Given the description of an element on the screen output the (x, y) to click on. 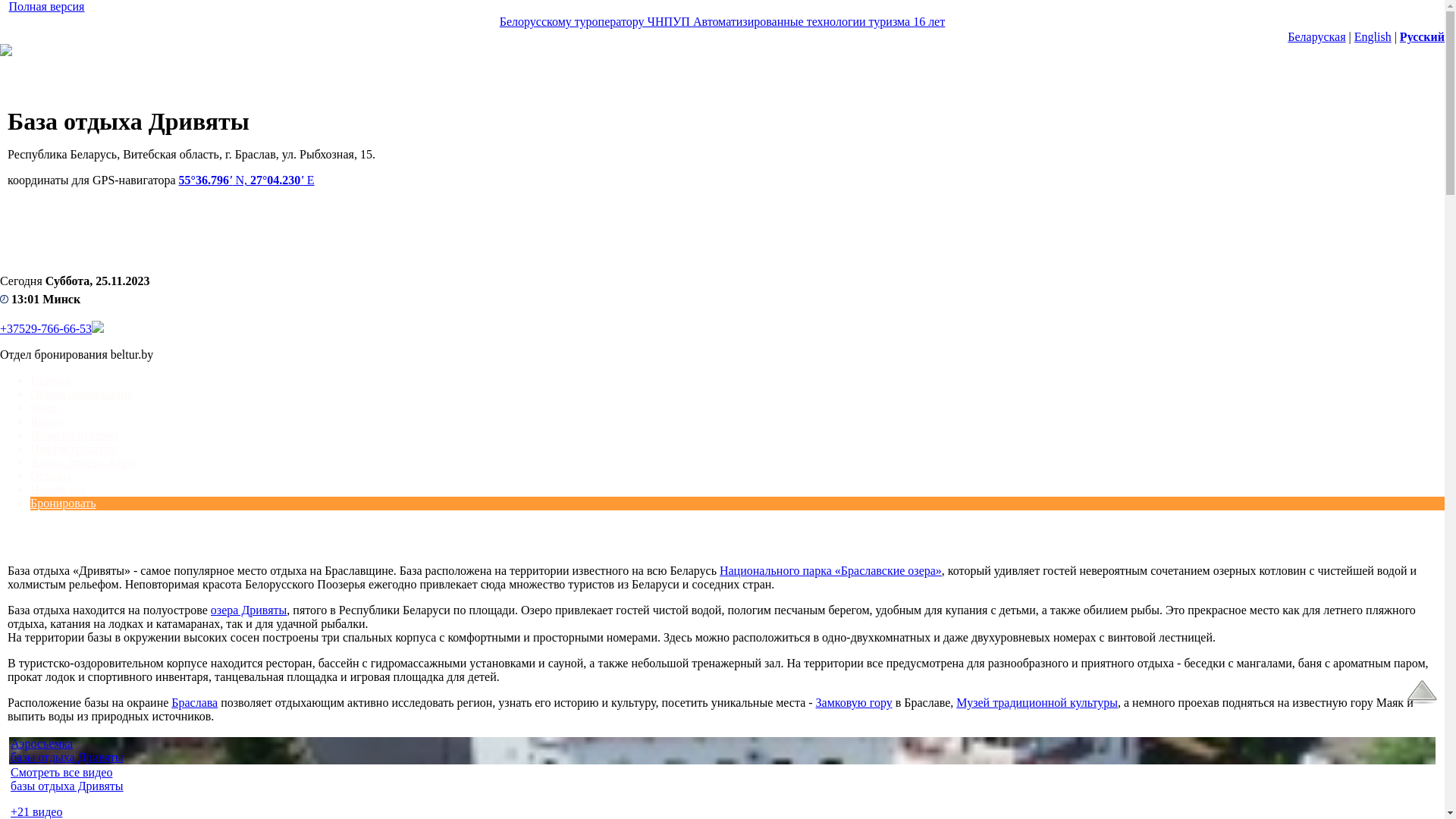
+37529-766-66-53 Element type: text (45, 328)
English Element type: text (1372, 36)
